Given the description of an element on the screen output the (x, y) to click on. 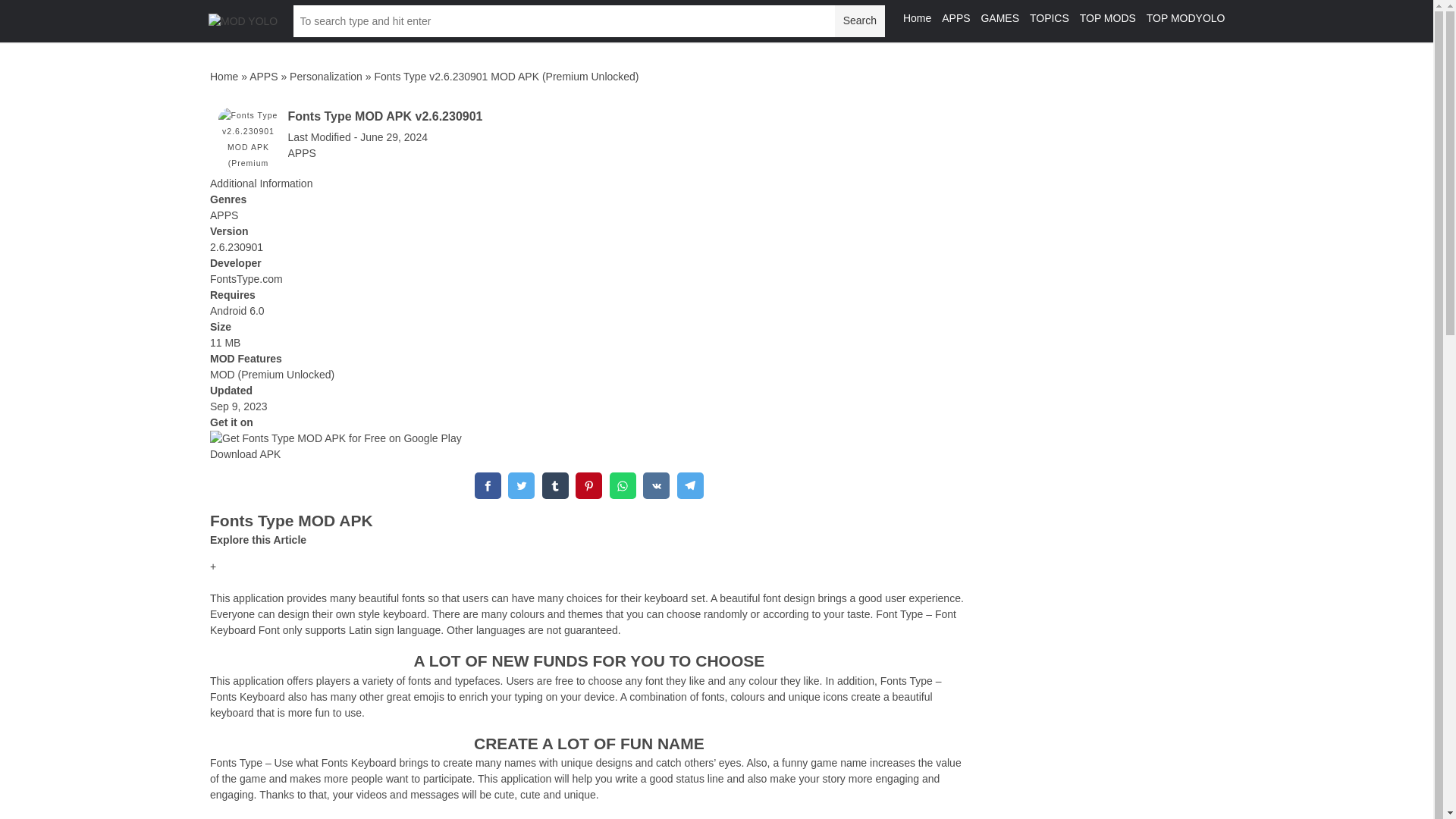
Personalization (325, 76)
TOPICS (1048, 18)
WhatsApp (623, 485)
Facebook (487, 485)
APPS (263, 76)
Search (858, 20)
Home (916, 18)
Twitter (521, 485)
Download APK (245, 453)
Telegram (690, 485)
TOP MODS (1107, 18)
Home (223, 76)
APPS (955, 18)
Pinterest (588, 485)
TOP MODYOLO (1186, 18)
